Given the description of an element on the screen output the (x, y) to click on. 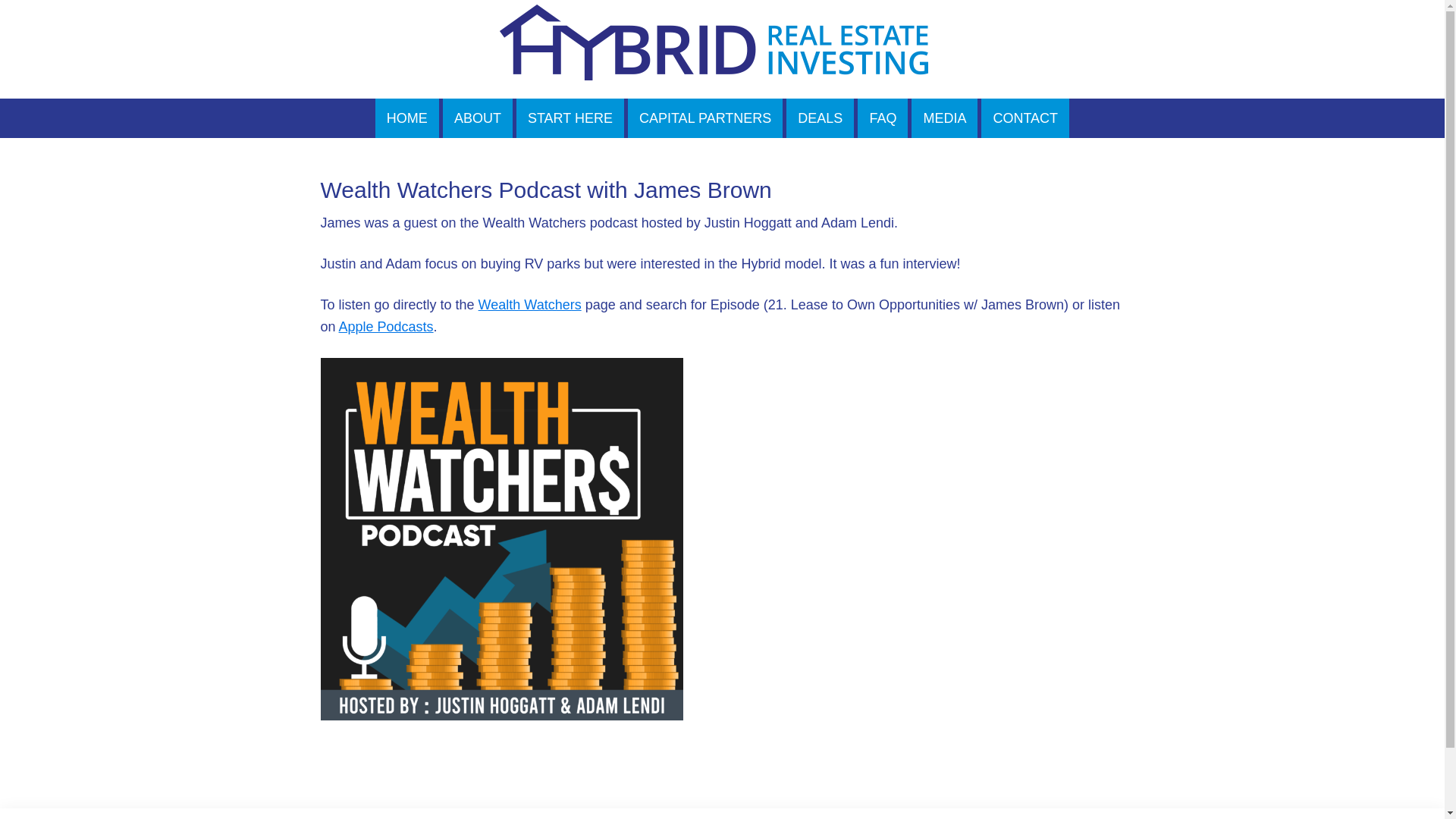
Apple Podcasts (386, 326)
MEDIA (943, 118)
CAPITAL PARTNERS (705, 118)
Wealth Watchers (529, 304)
ABOUT (477, 118)
CONTACT (1024, 118)
DEALS (819, 118)
START HERE (570, 118)
HOME (407, 118)
FAQ (882, 118)
HYBRID REAL ESTATE INVESTING (722, 49)
